Given the description of an element on the screen output the (x, y) to click on. 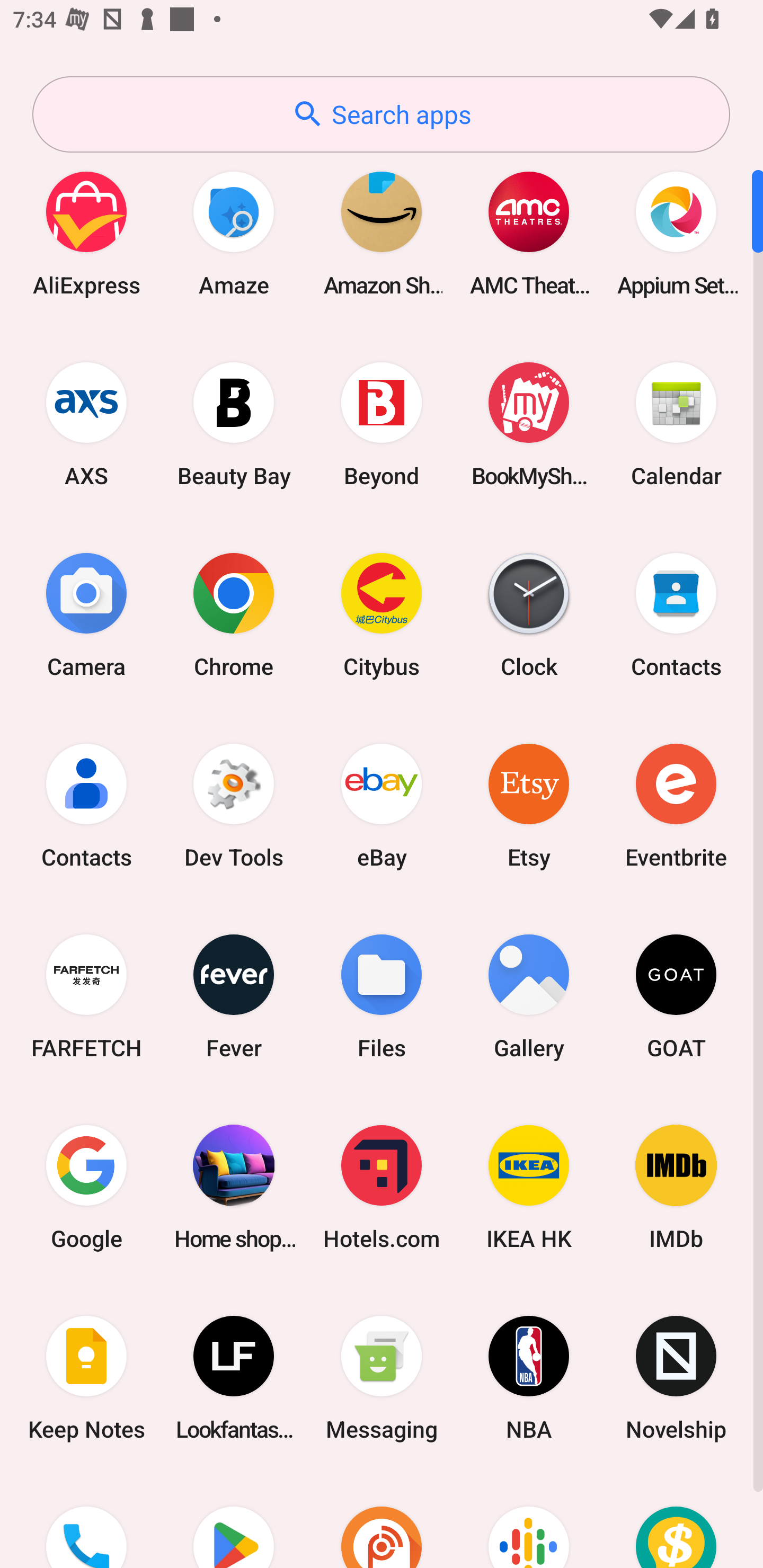
  Search apps (381, 114)
AliExpress (86, 233)
Amaze (233, 233)
Amazon Shopping (381, 233)
AMC Theatres (528, 233)
Appium Settings (676, 233)
AXS (86, 424)
Beauty Bay (233, 424)
Beyond (381, 424)
BookMyShow (528, 424)
Calendar (676, 424)
Camera (86, 614)
Chrome (233, 614)
Citybus (381, 614)
Clock (528, 614)
Contacts (676, 614)
Contacts (86, 805)
Dev Tools (233, 805)
eBay (381, 805)
Etsy (528, 805)
Eventbrite (676, 805)
FARFETCH (86, 996)
Fever (233, 996)
Files (381, 996)
Gallery (528, 996)
GOAT (676, 996)
Google (86, 1186)
Home shopping (233, 1186)
Hotels.com (381, 1186)
IKEA HK (528, 1186)
IMDb (676, 1186)
Keep Notes (86, 1377)
Lookfantastic (233, 1377)
Messaging (381, 1377)
NBA (528, 1377)
Novelship (676, 1377)
Phone (86, 1520)
Play Store (233, 1520)
Podcast Addict (381, 1520)
Podcasts (528, 1520)
Price (676, 1520)
